Given the description of an element on the screen output the (x, y) to click on. 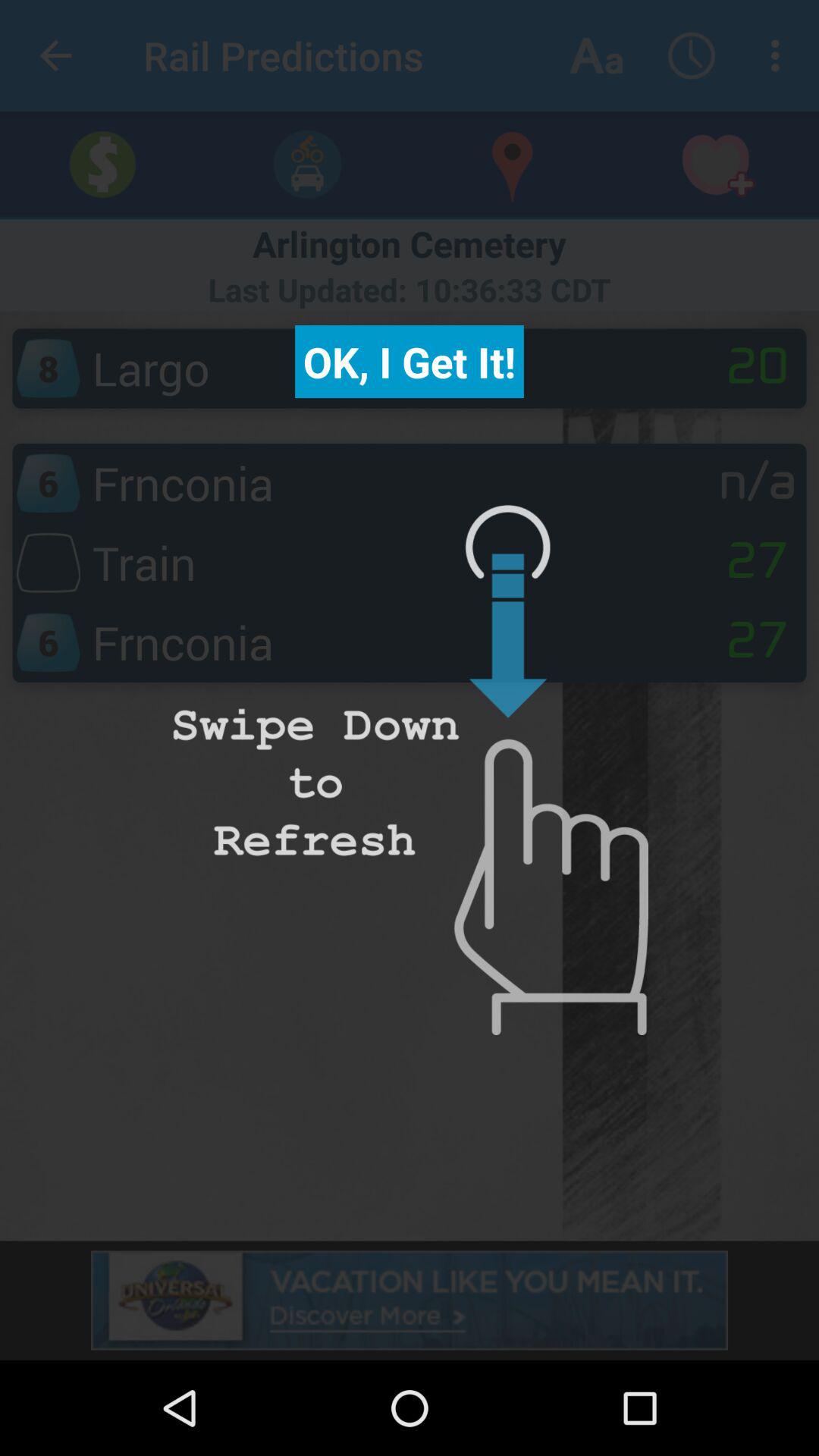
turn off the ok i get (409, 361)
